Given the description of an element on the screen output the (x, y) to click on. 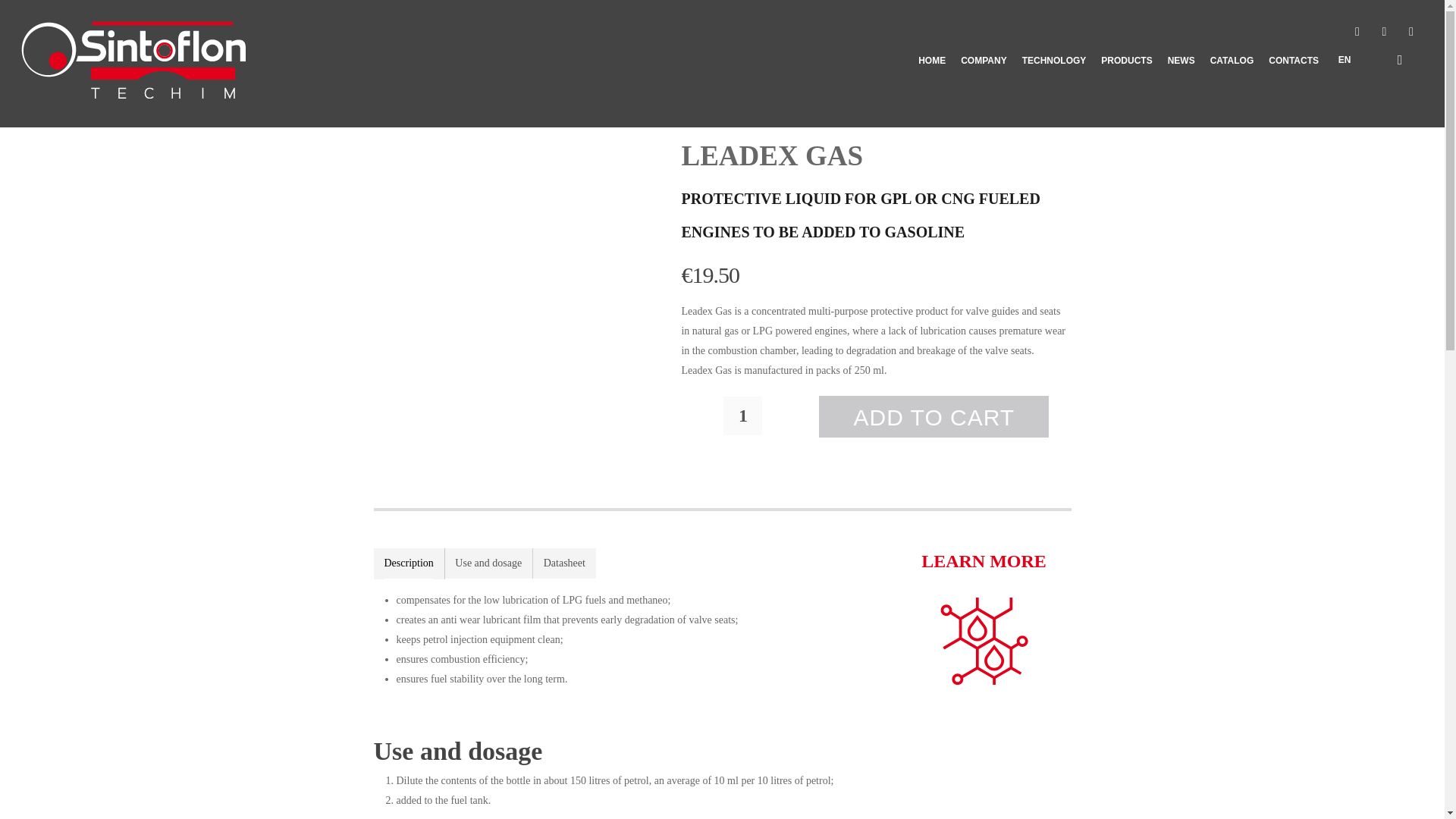
1 (742, 415)
TECHNOLOGY (1054, 87)
Qty (742, 415)
